Given the description of an element on the screen output the (x, y) to click on. 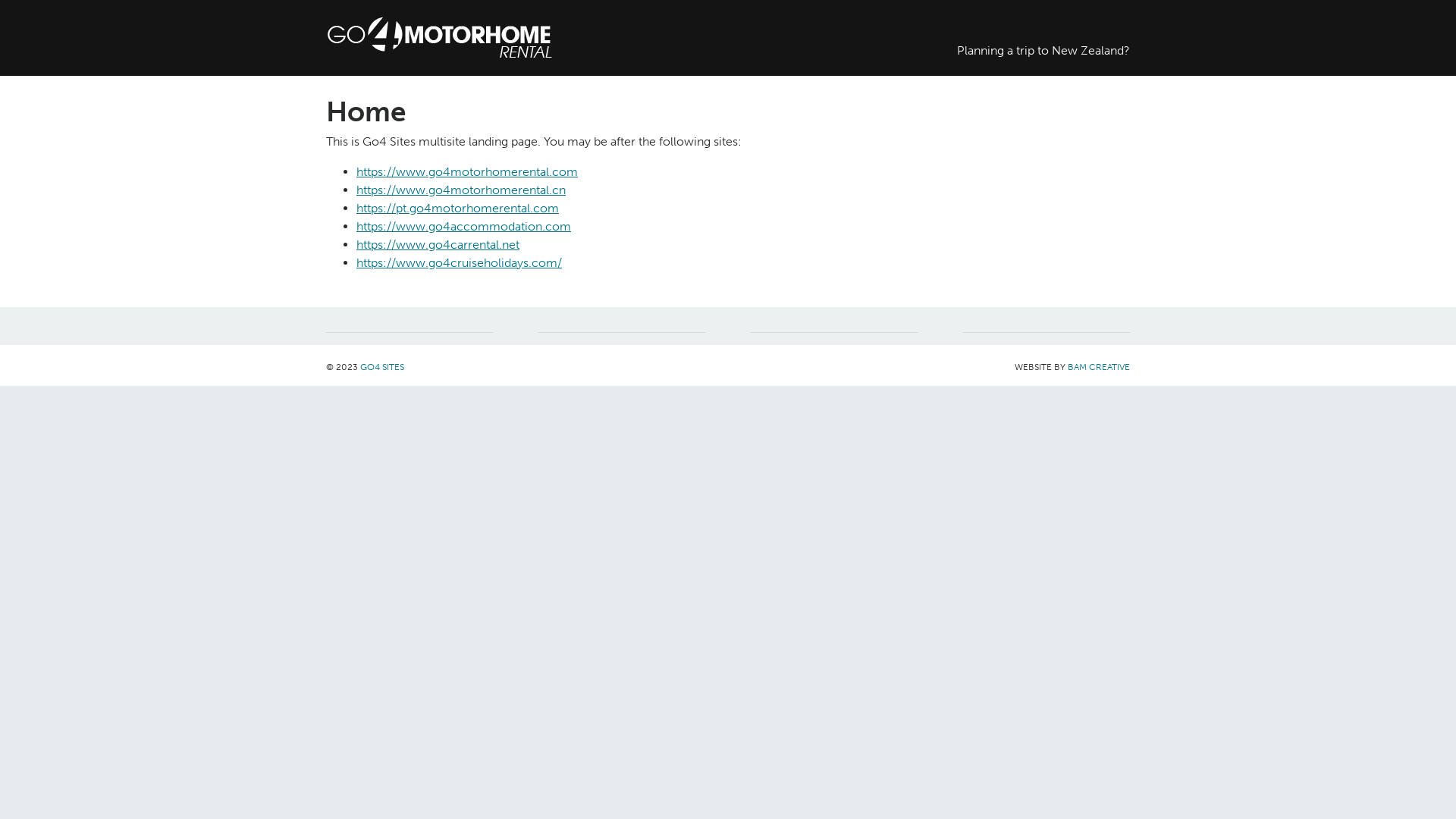
Go4 Sites Element type: text (515, 37)
https://www.go4carrental.net Element type: text (437, 244)
https://www.go4accommodation.com Element type: text (463, 226)
https://pt.go4motorhomerental.com Element type: text (457, 207)
skip to navigation Element type: text (47, 9)
https://www.go4motorhomerental.cn Element type: text (460, 189)
https://www.go4cruiseholidays.com/ Element type: text (458, 262)
https://www.go4motorhomerental.com Element type: text (466, 171)
BAM CREATIVE Element type: text (1098, 366)
GO4 SITES Element type: text (382, 366)
Planning a trip to New Zealand? Element type: text (1043, 29)
skip to content Element type: text (40, 9)
